Given the description of an element on the screen output the (x, y) to click on. 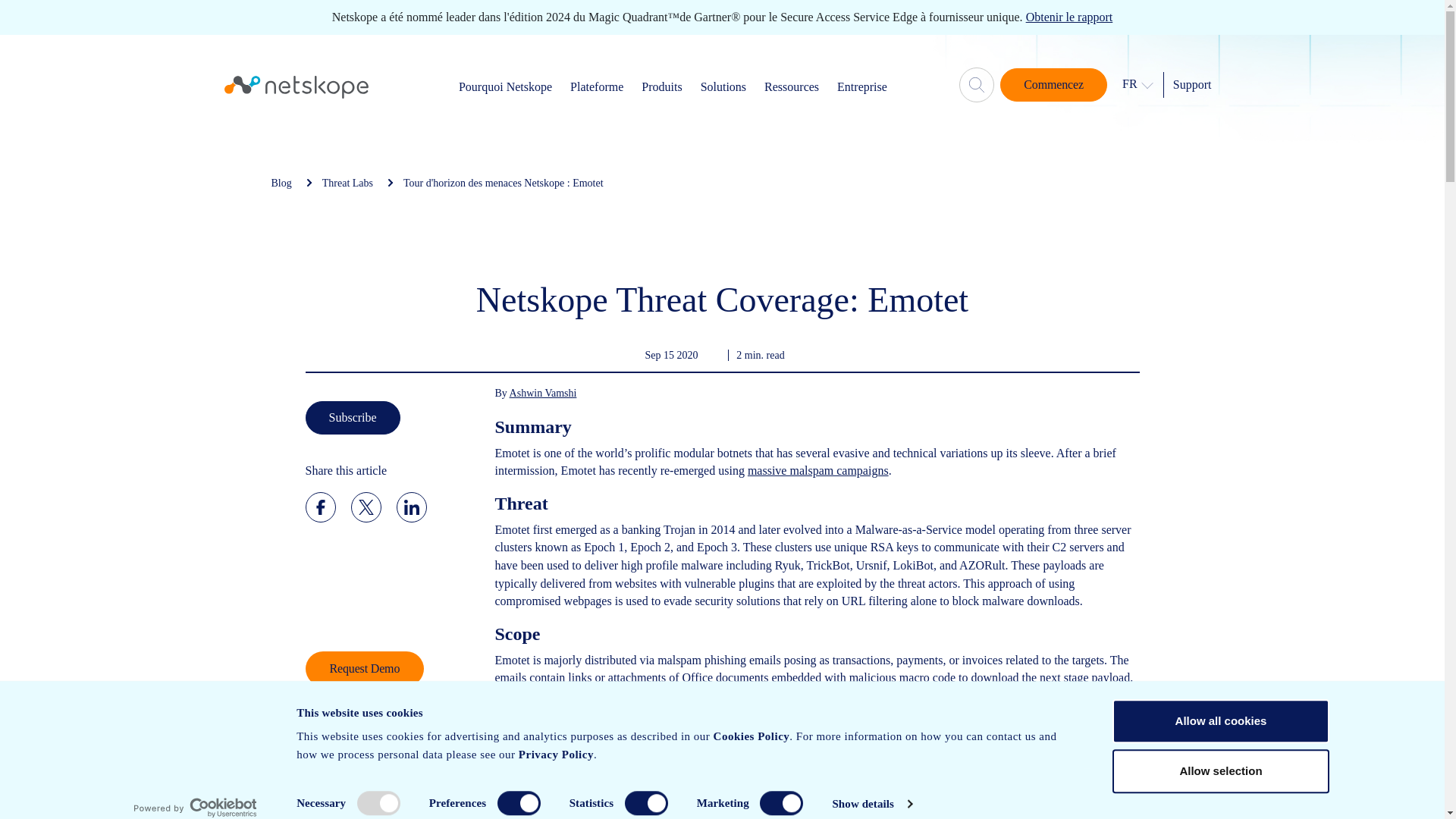
Privacy Policy (555, 754)
Cookies Policy (751, 736)
Show details (871, 803)
